Given the description of an element on the screen output the (x, y) to click on. 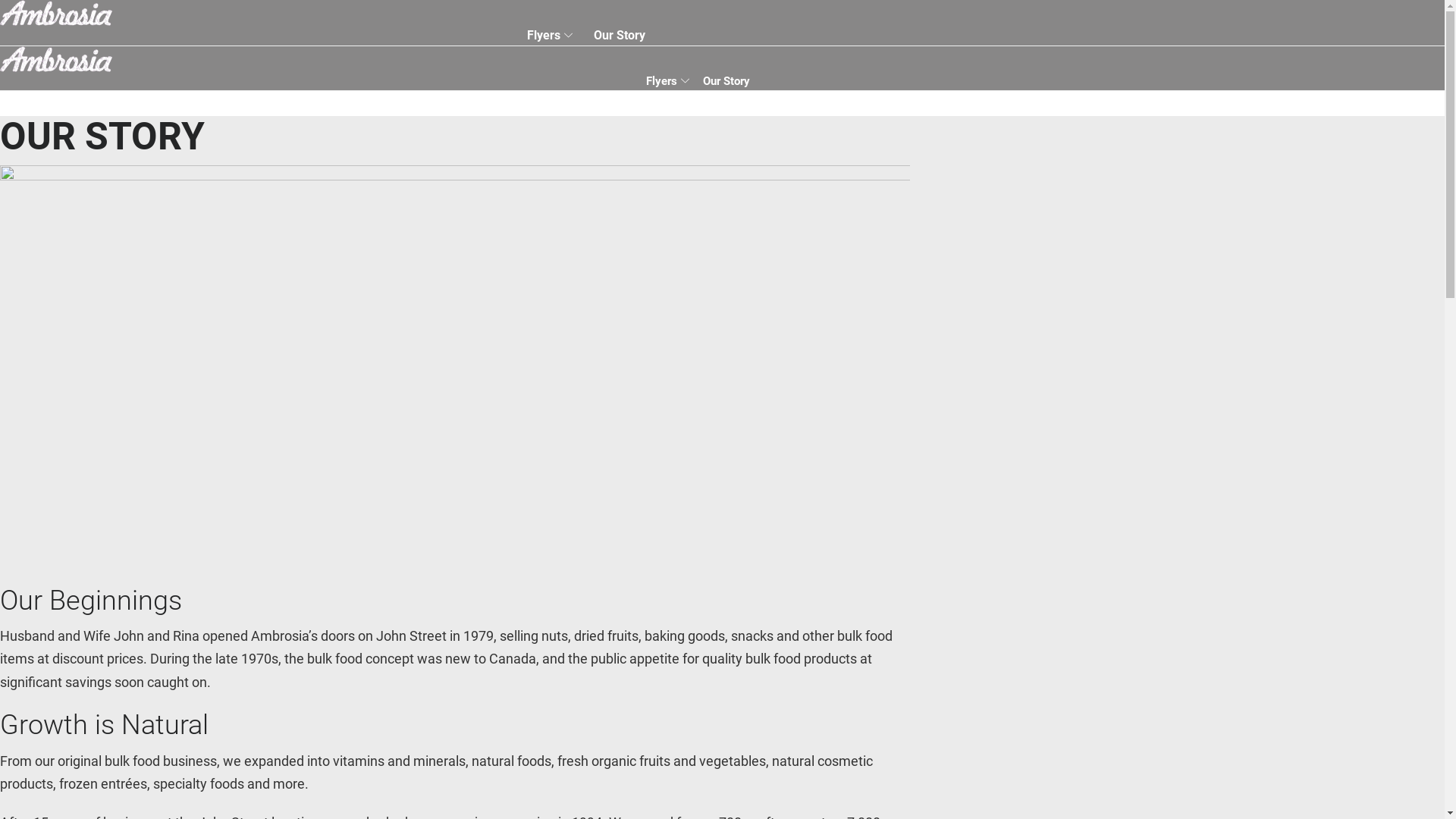
Our Story Element type: text (619, 35)
Our Story Element type: text (726, 81)
Flyersarrow-down Element type: text (549, 35)
Flyersarrow-down Element type: text (667, 81)
